Given the description of an element on the screen output the (x, y) to click on. 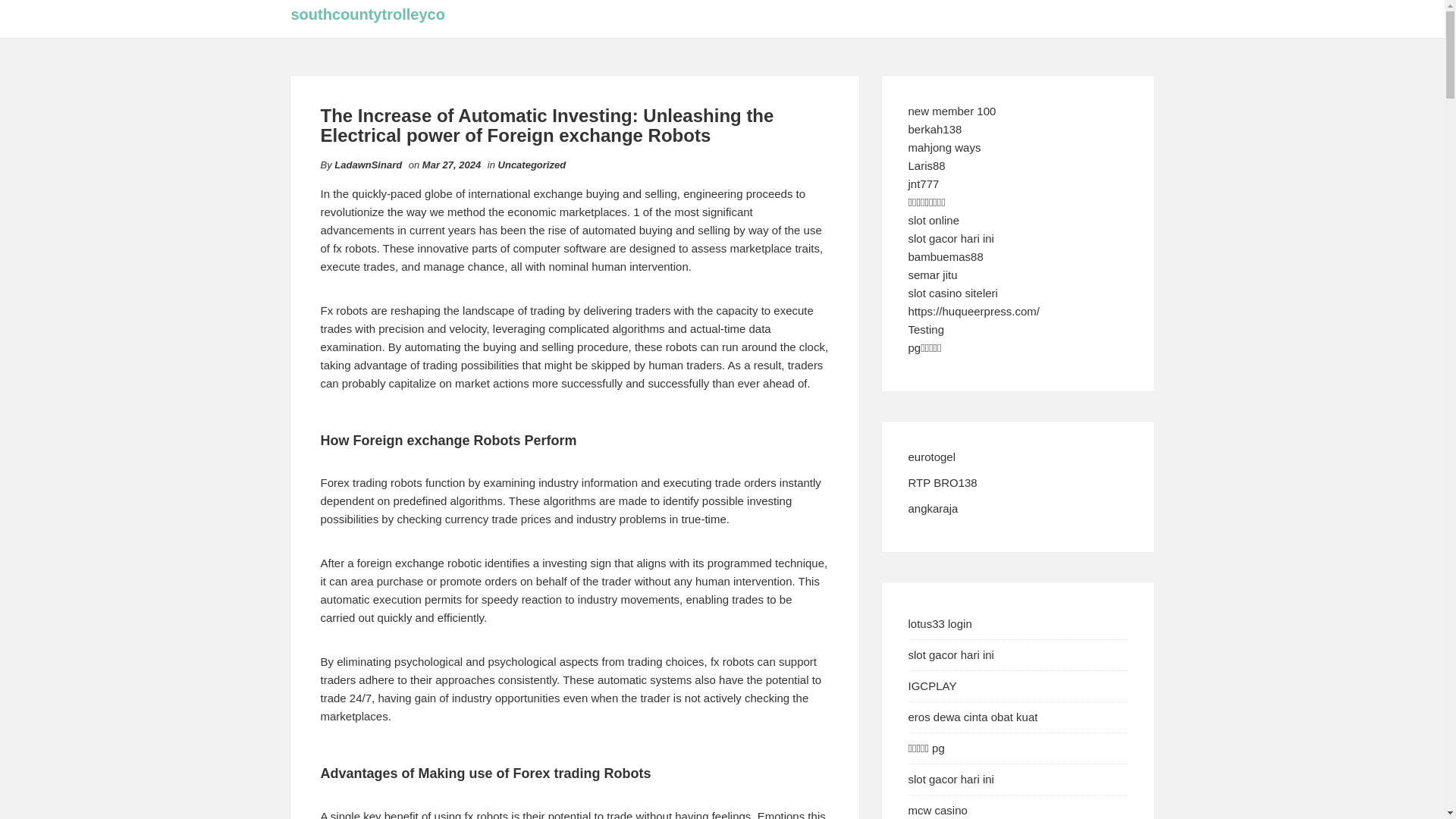
angkaraja (933, 508)
Testing (926, 328)
eros dewa cinta obat kuat (973, 716)
LadawnSinard (367, 164)
IGCPLAY (932, 685)
bambuemas88 (946, 256)
slot gacor hari ini (951, 237)
eurotogel (932, 456)
slot gacor hari ini (951, 654)
semar jitu (933, 274)
Laris88 (926, 164)
mahjong ways (944, 146)
slot casino siteleri (952, 292)
jnt777 (923, 183)
southcountytrolleyco (368, 13)
